Given the description of an element on the screen output the (x, y) to click on. 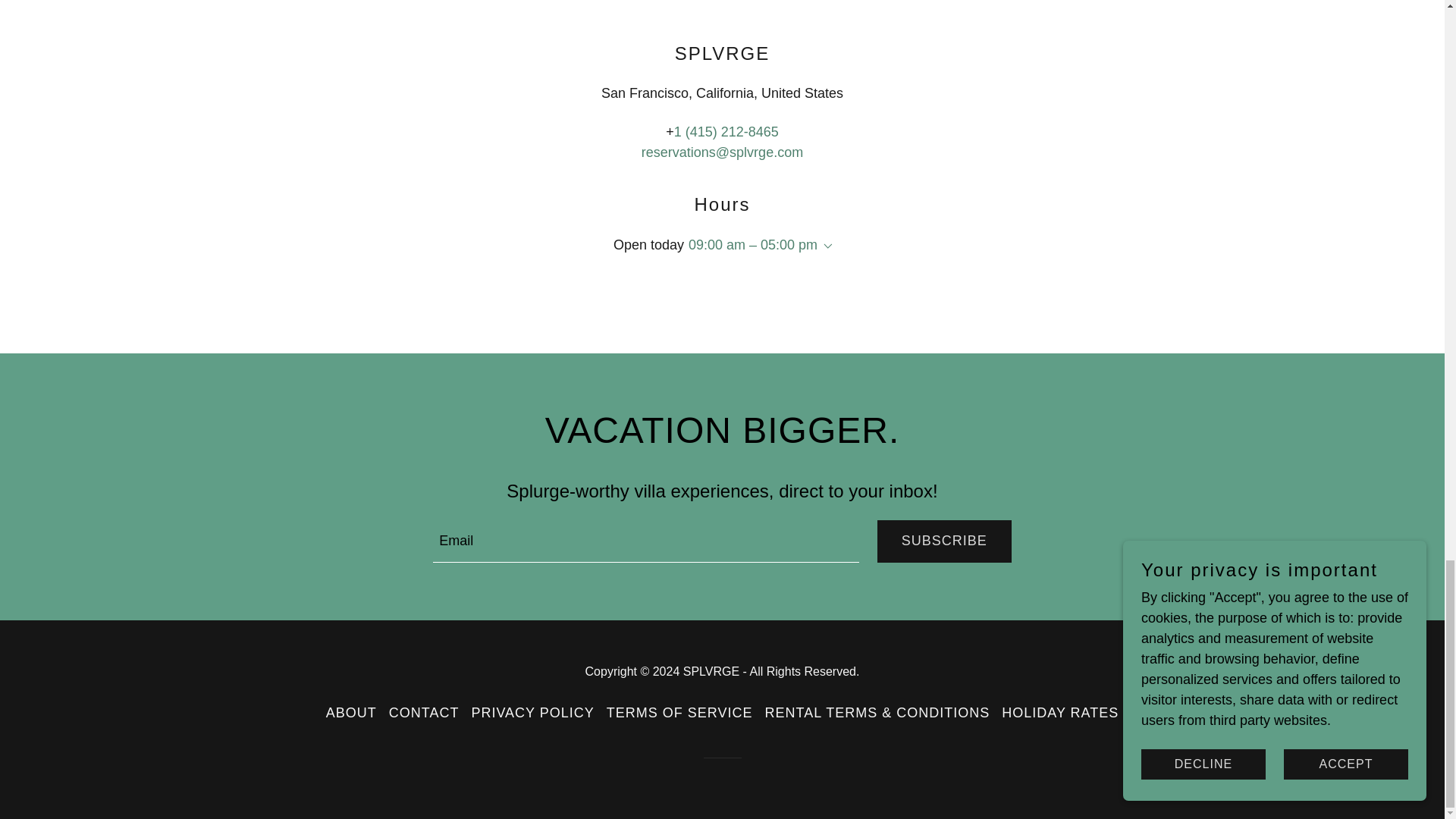
SUBSCRIBE (944, 541)
PRIVACY POLICY (531, 713)
ABOUT (351, 713)
TERMS OF SERVICE (678, 713)
CONTACT (423, 713)
HOLIDAY RATES (1059, 713)
